Given the description of an element on the screen output the (x, y) to click on. 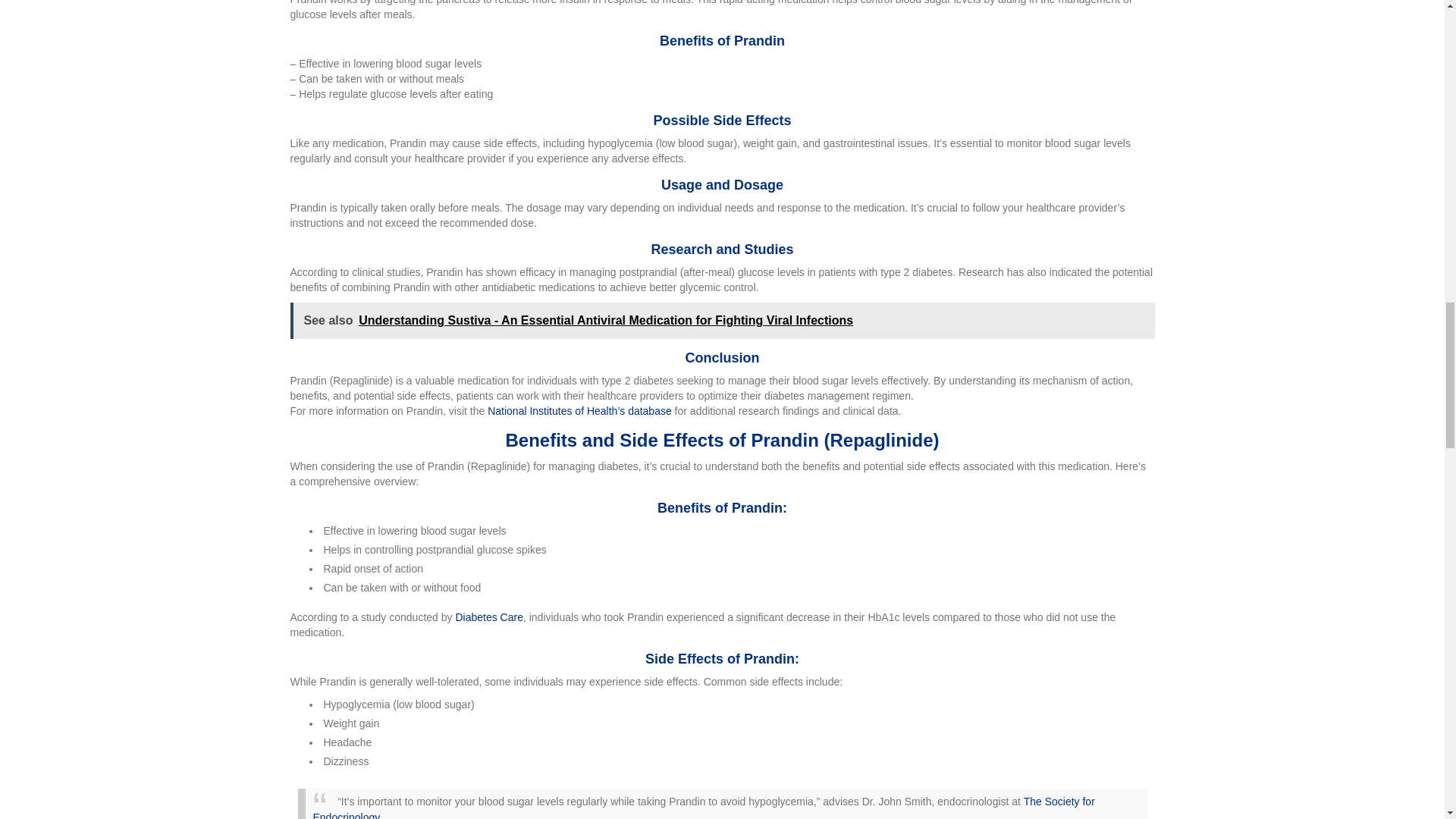
Diabetes Care (488, 616)
The Society for Endocrinology (703, 807)
